Given the description of an element on the screen output the (x, y) to click on. 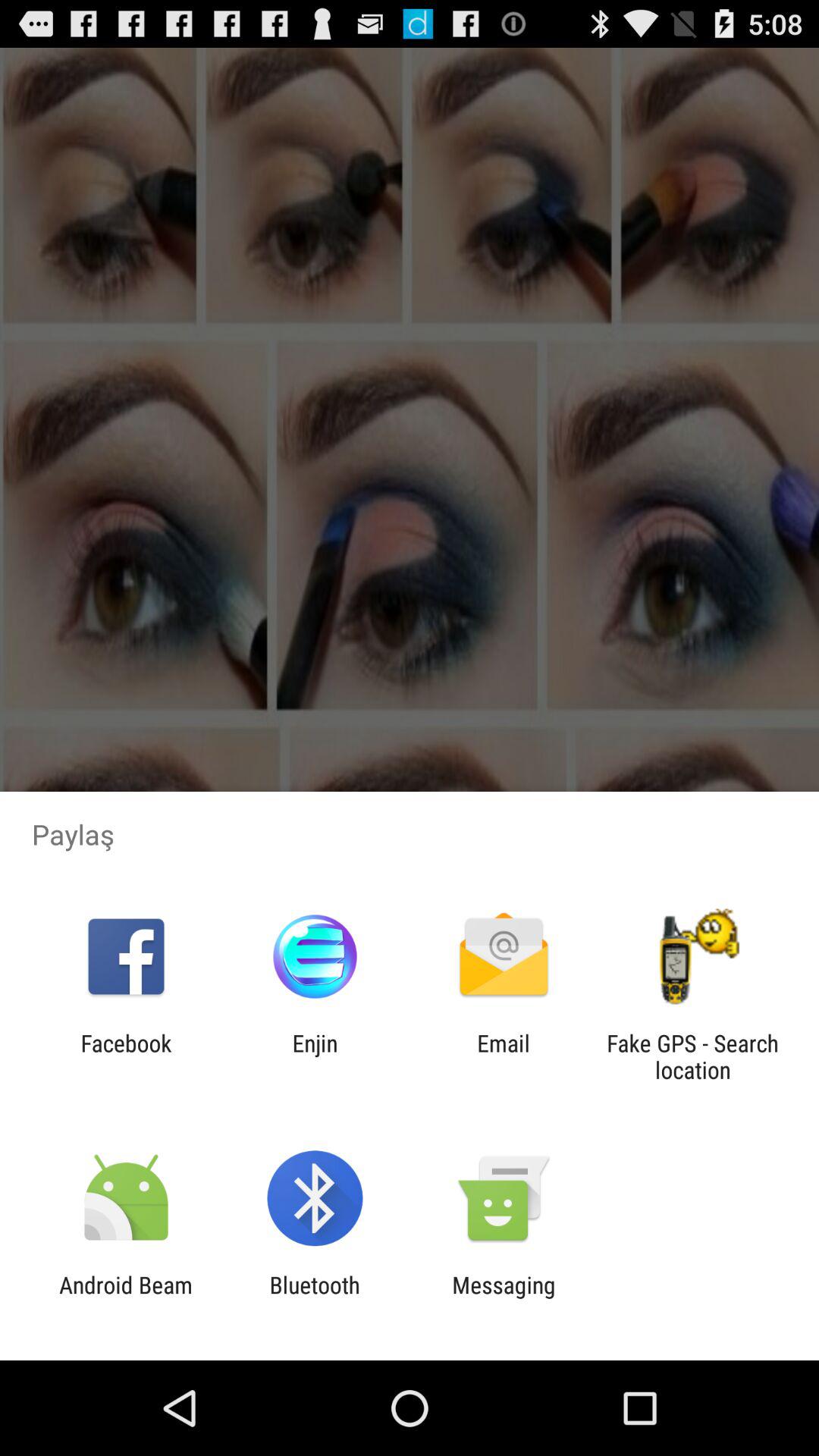
launch the item at the bottom right corner (692, 1056)
